Given the description of an element on the screen output the (x, y) to click on. 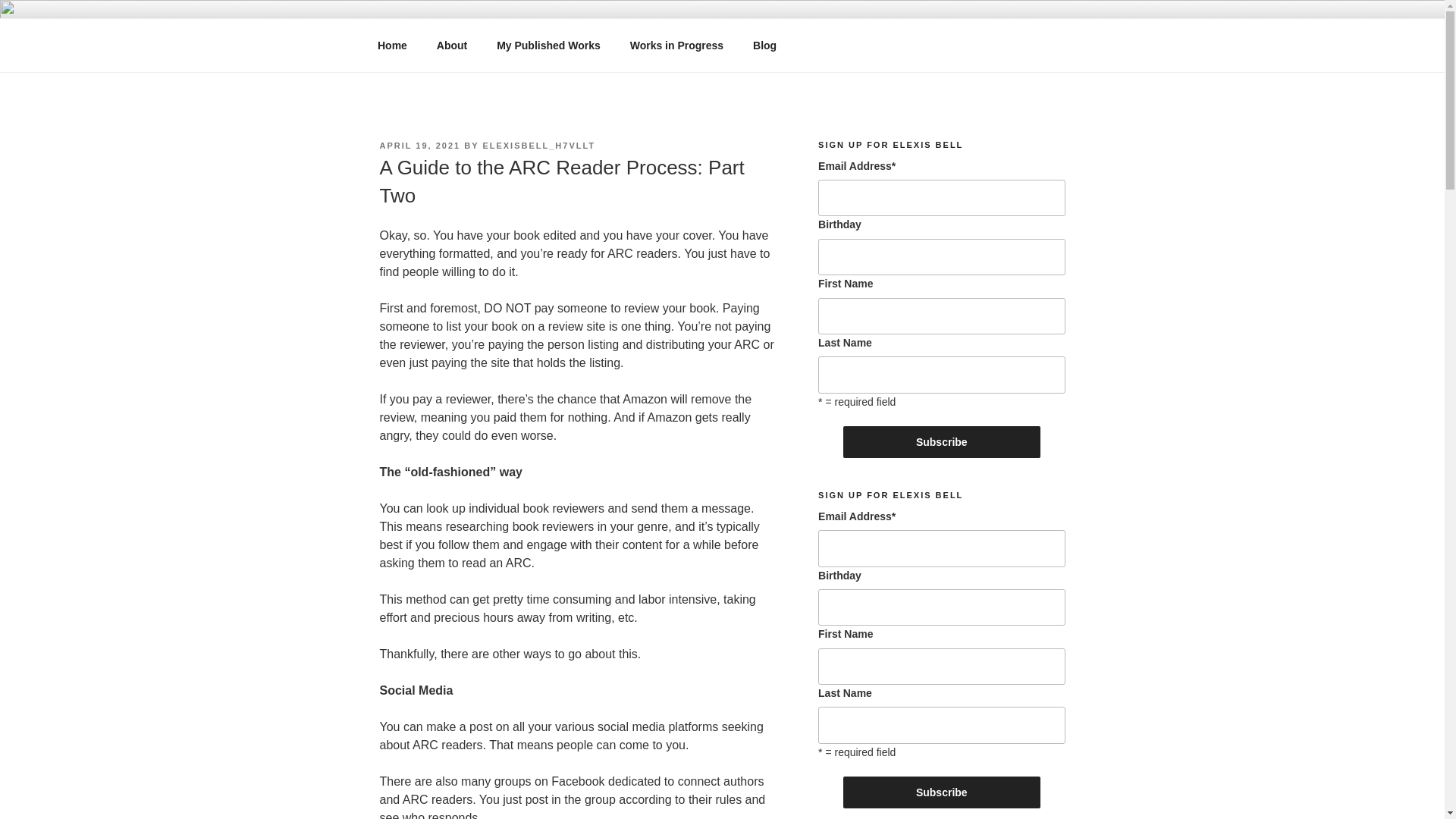
Subscribe (942, 792)
Blog (764, 45)
Subscribe (942, 441)
ELEXIS BELL (478, 52)
Home (392, 45)
APRIL 19, 2021 (419, 144)
Works in Progress (675, 45)
About (451, 45)
Subscribe (942, 792)
My Published Works (548, 45)
